Given the description of an element on the screen output the (x, y) to click on. 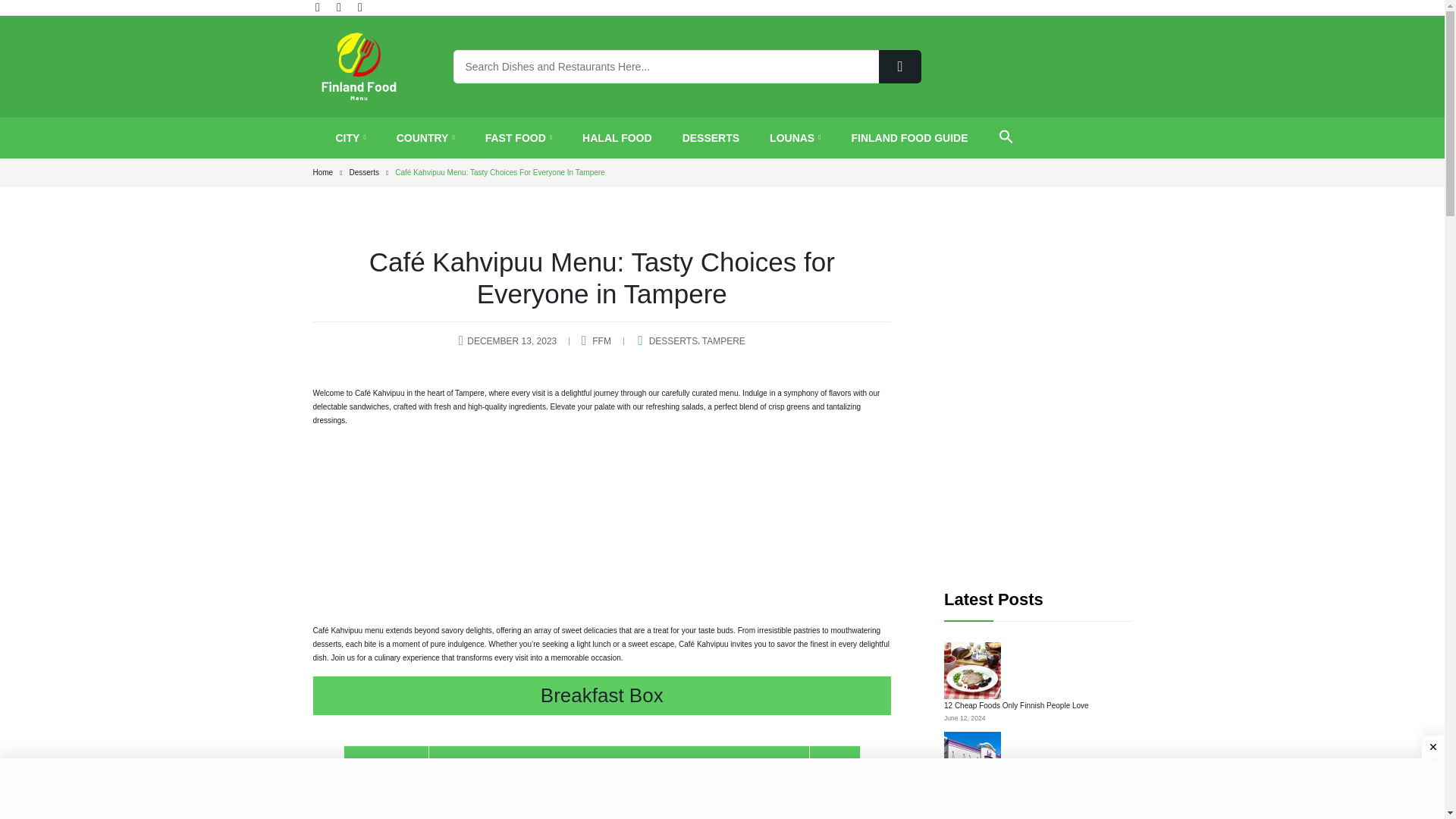
FAST FOOD (517, 137)
facebook (319, 7)
pinterest (340, 7)
youtube (361, 7)
COUNTRY (425, 137)
